Given the description of an element on the screen output the (x, y) to click on. 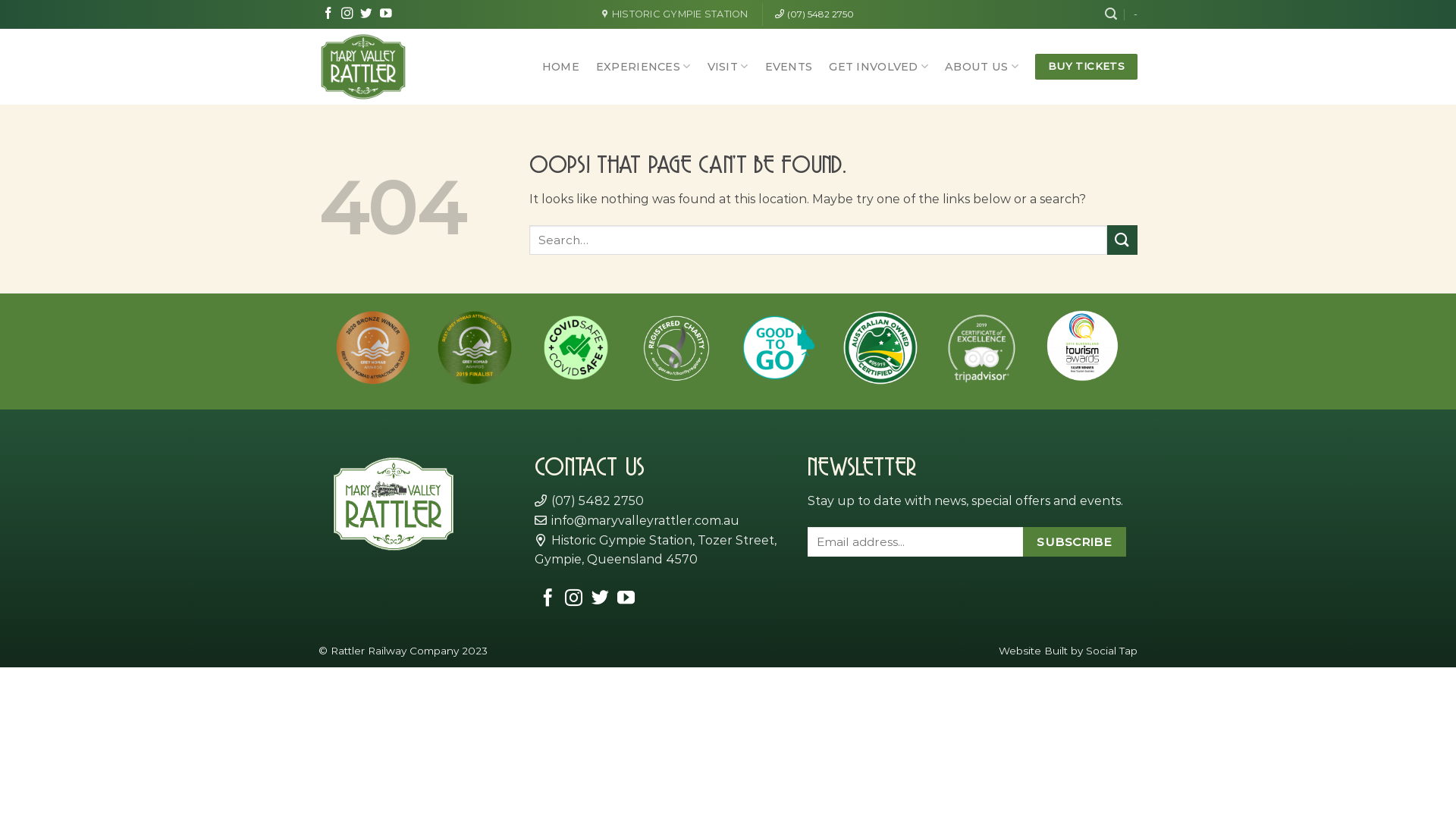
Subscribe Element type: text (1074, 541)
Mary Valley Rattler Element type: hover (375, 66)
VISIT Element type: text (727, 66)
Follow on Facebook Element type: hover (328, 13)
(07) 5482 2750 Element type: text (814, 13)
HISTORIC GYMPIE STATION Element type: text (675, 14)
Follow on Twitter Element type: hover (599, 598)
Follow on Twitter Element type: hover (366, 13)
Follow on YouTube Element type: hover (385, 13)
EXPERIENCES Element type: text (643, 66)
Social Tap Element type: text (1111, 650)
EVENTS Element type: text (788, 66)
Follow on YouTube Element type: hover (625, 598)
info@maryvalleyrattler.com.au Element type: text (636, 520)
ABOUT US Element type: text (981, 66)
HOME Element type: text (560, 66)
Follow on Instagram Element type: hover (347, 13)
Follow on Facebook Element type: hover (547, 598)
BUY TICKETS Element type: text (1086, 66)
- Element type: text (1135, 14)
Follow on Instagram Element type: hover (573, 598)
GET INVOLVED Element type: text (878, 66)
(07) 5482 2750 Element type: text (588, 500)
